Given the description of an element on the screen output the (x, y) to click on. 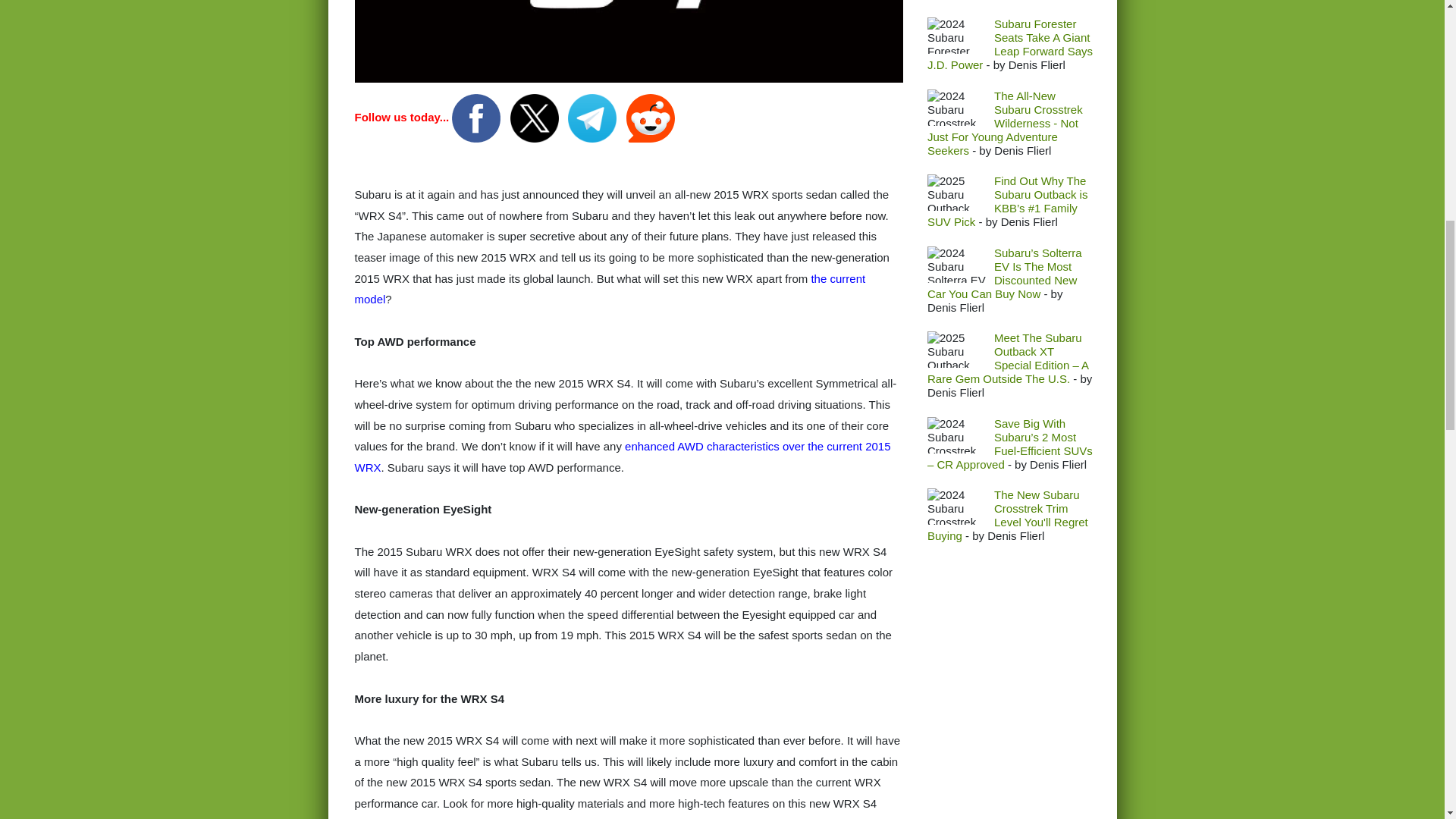
the current model (610, 288)
Join us on Reddit! (650, 116)
enhanced AWD characteristics over the current 2015 WRX (623, 456)
Join us on Telegram! (593, 116)
